Given the description of an element on the screen output the (x, y) to click on. 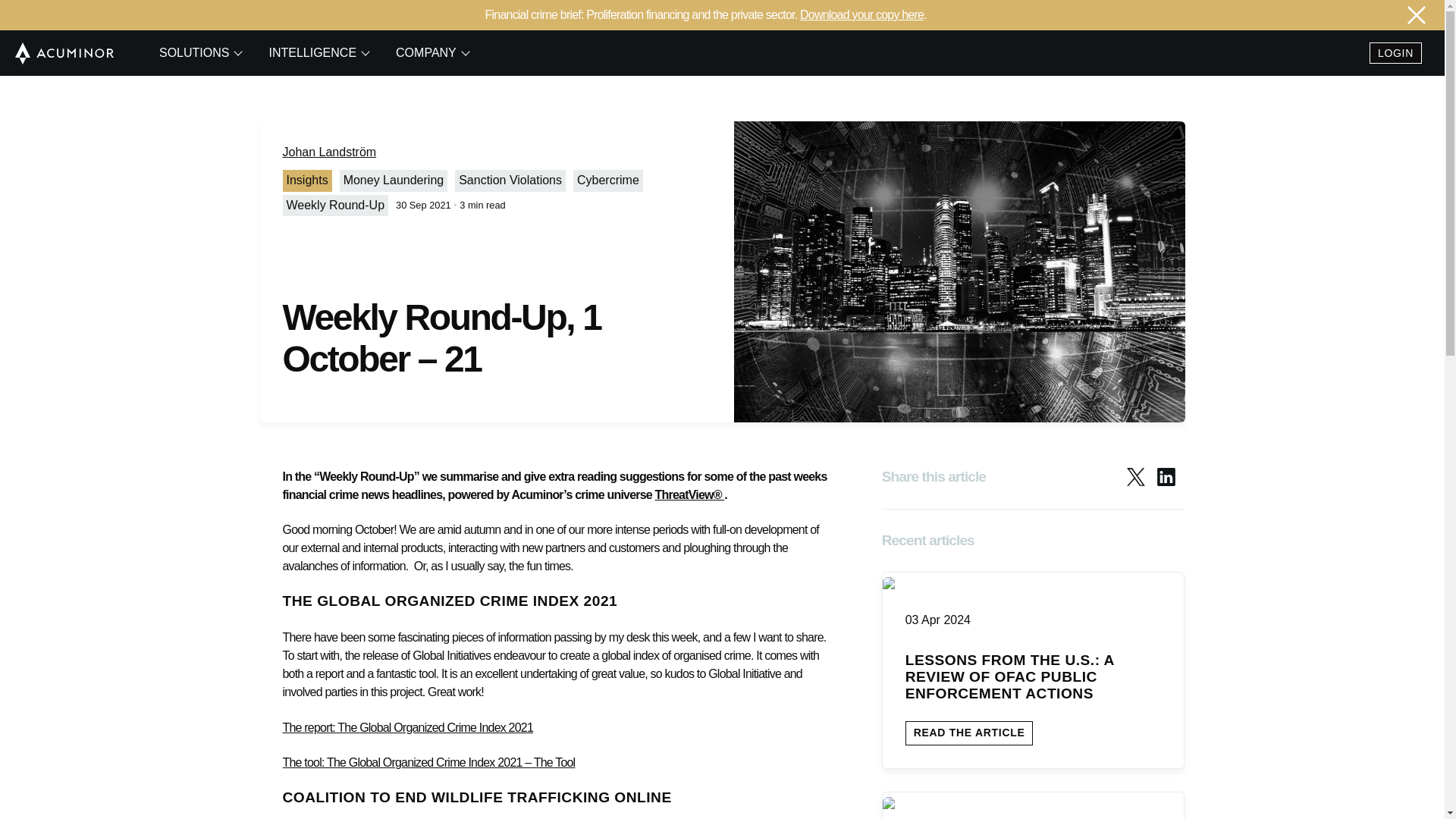
SOLUTIONS (198, 53)
Download your copy here (861, 14)
Money Laundering (393, 179)
LOGIN (1396, 52)
INTELLIGENCE (316, 53)
Insights (307, 179)
COMPANY (430, 53)
